Given the description of an element on the screen output the (x, y) to click on. 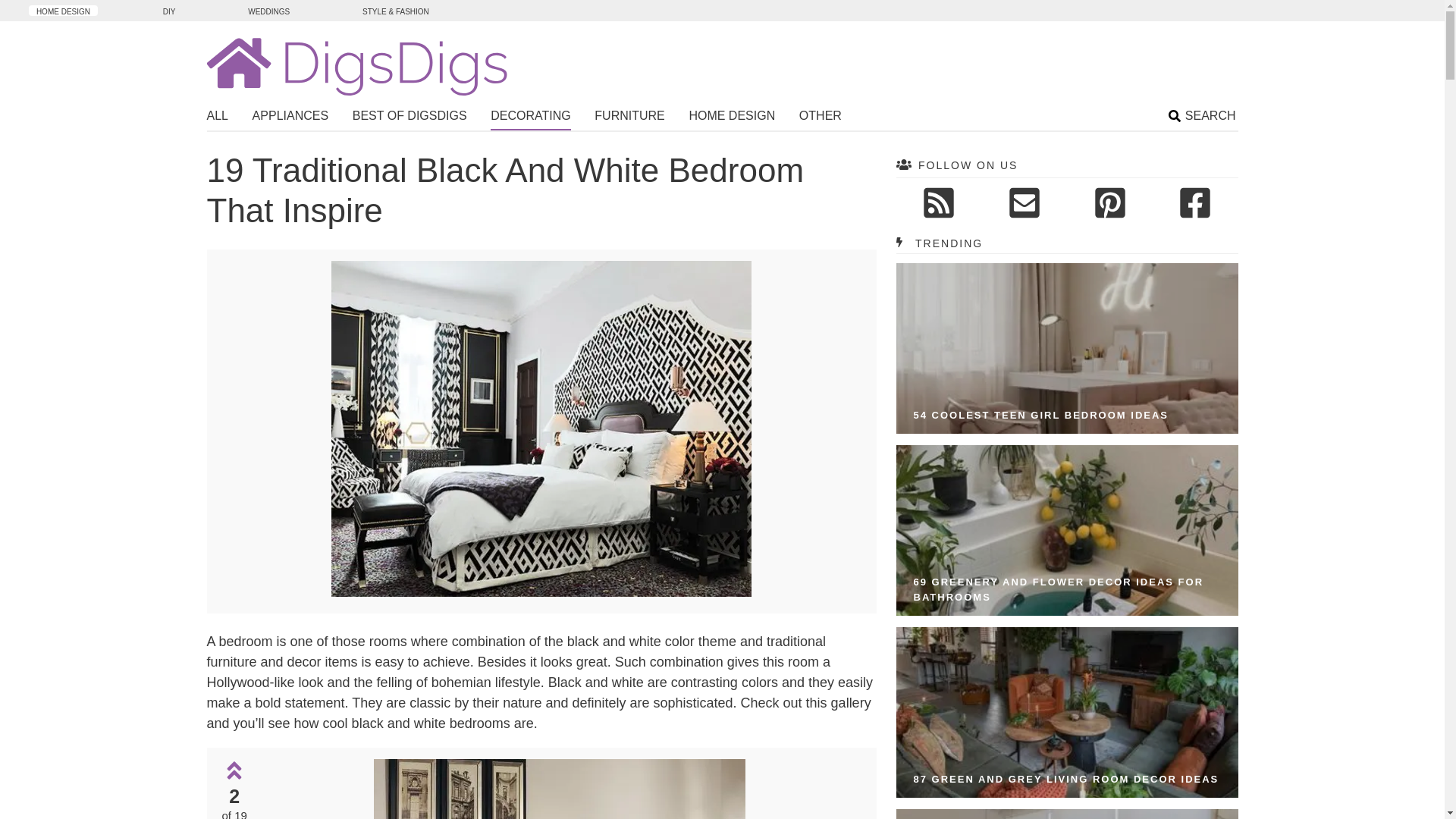
APPLIANCES (290, 117)
DIY (169, 9)
ALL (216, 117)
Traditional Black And White Bedroom (559, 789)
OTHER (820, 117)
HOME DESIGN (731, 117)
FURNITURE (628, 117)
Wedding Ideas and Inspirations (268, 9)
BEST OF DIGSDIGS (409, 117)
DECORATING (530, 118)
DIY Projects and Crafts (169, 9)
Traditional Black And White Bedroom (541, 592)
SEARCH (1202, 117)
Style and Fashion Tips (395, 9)
